Given the description of an element on the screen output the (x, y) to click on. 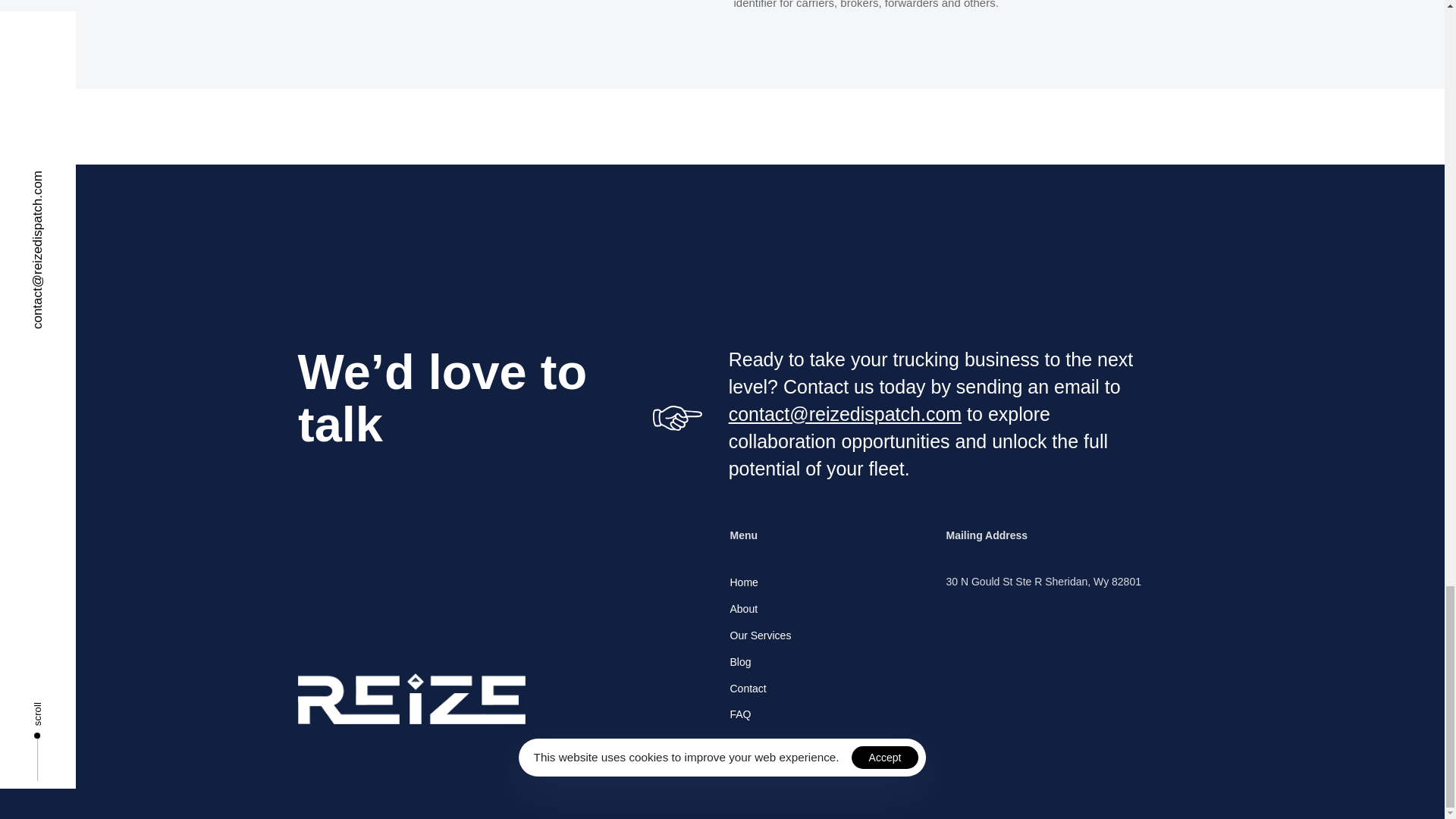
Home (829, 582)
